Given the description of an element on the screen output the (x, y) to click on. 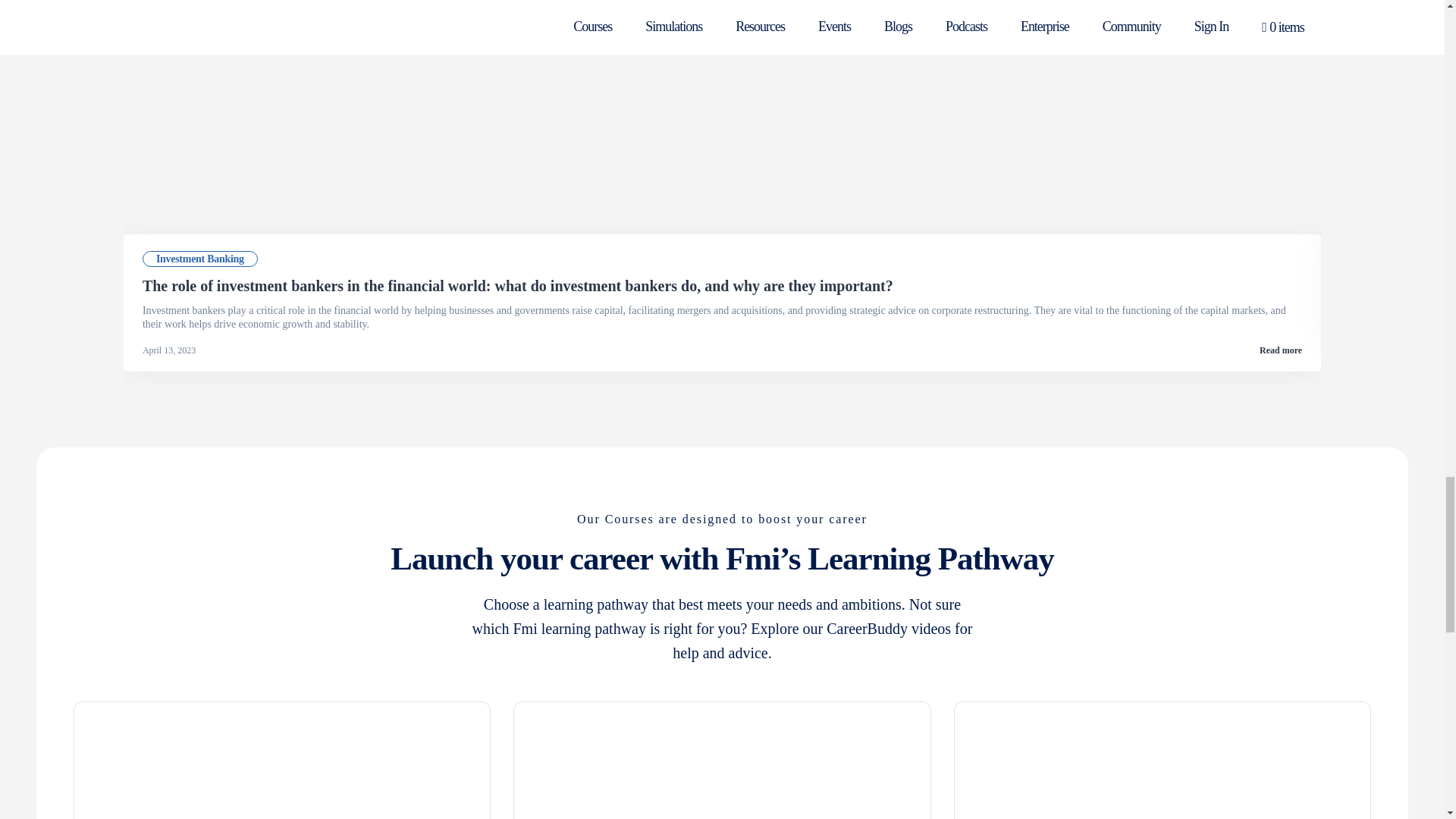
Investment Banking (199, 258)
Read more (1280, 349)
